Given the description of an element on the screen output the (x, y) to click on. 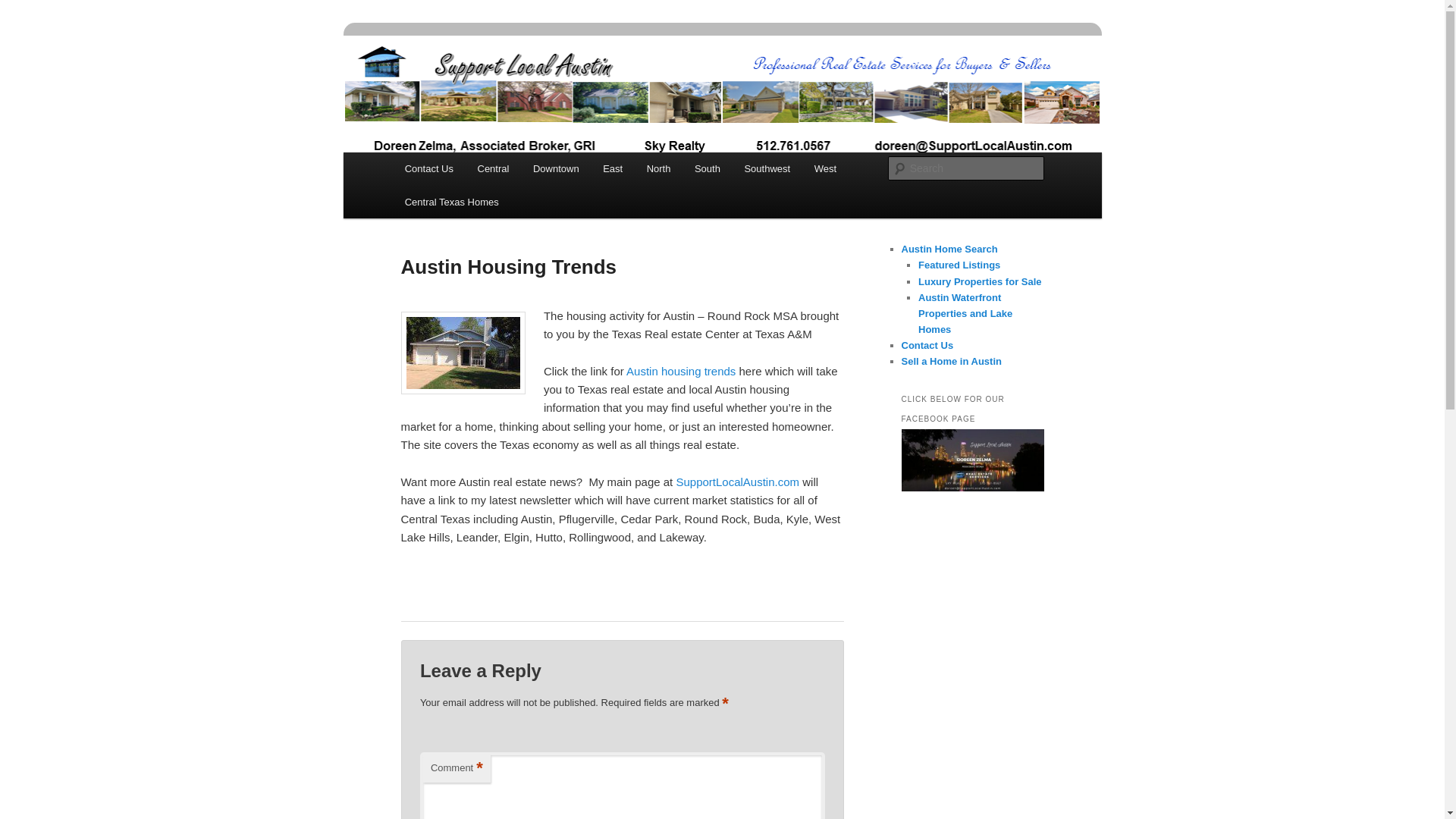
Central (493, 168)
Contact Us (429, 168)
Support Local Austin (514, 90)
Search (24, 8)
